Given the description of an element on the screen output the (x, y) to click on. 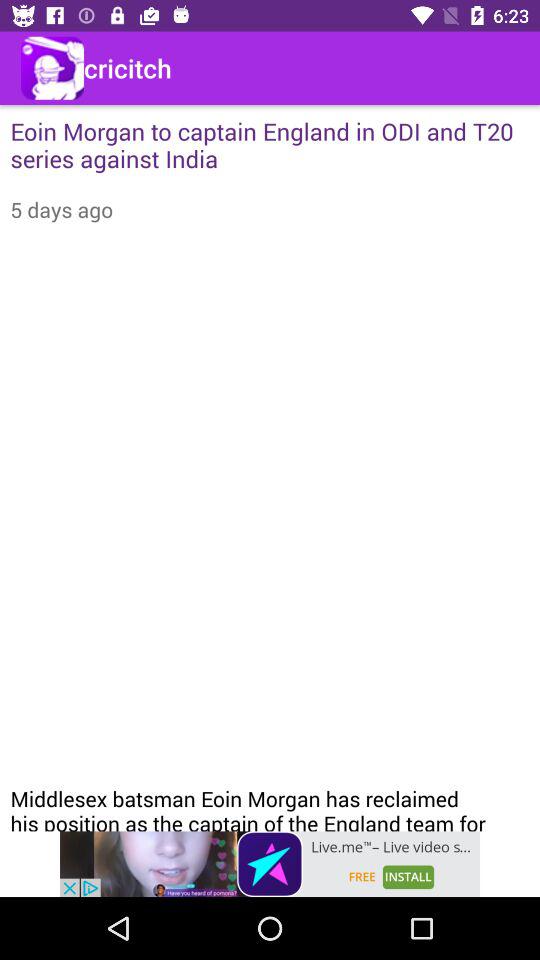
video apps (270, 864)
